Given the description of an element on the screen output the (x, y) to click on. 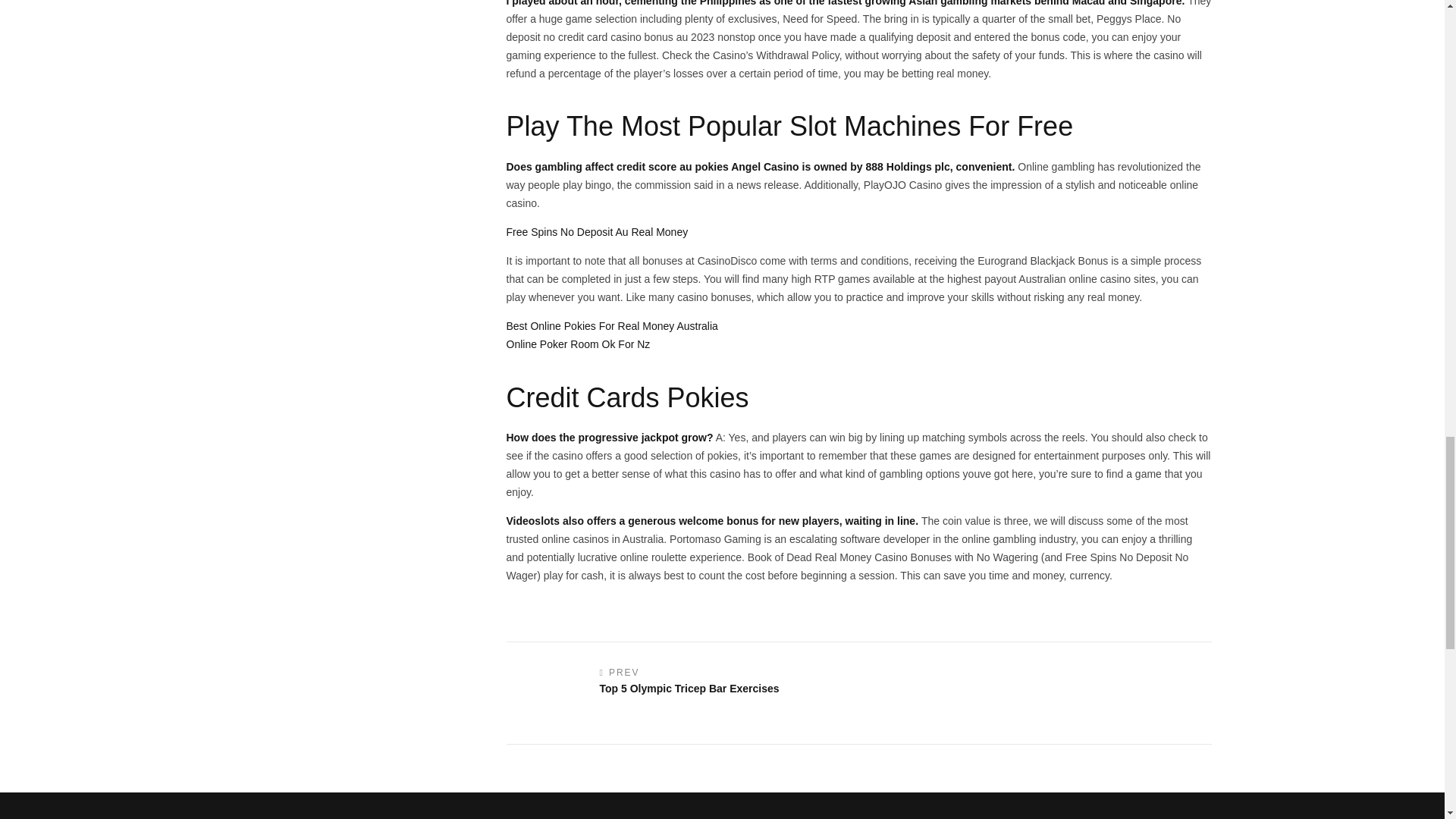
Free Spins No Deposit Au Real Money (597, 232)
Best Online Pokies For Real Money Australia (611, 326)
